Given the description of an element on the screen output the (x, y) to click on. 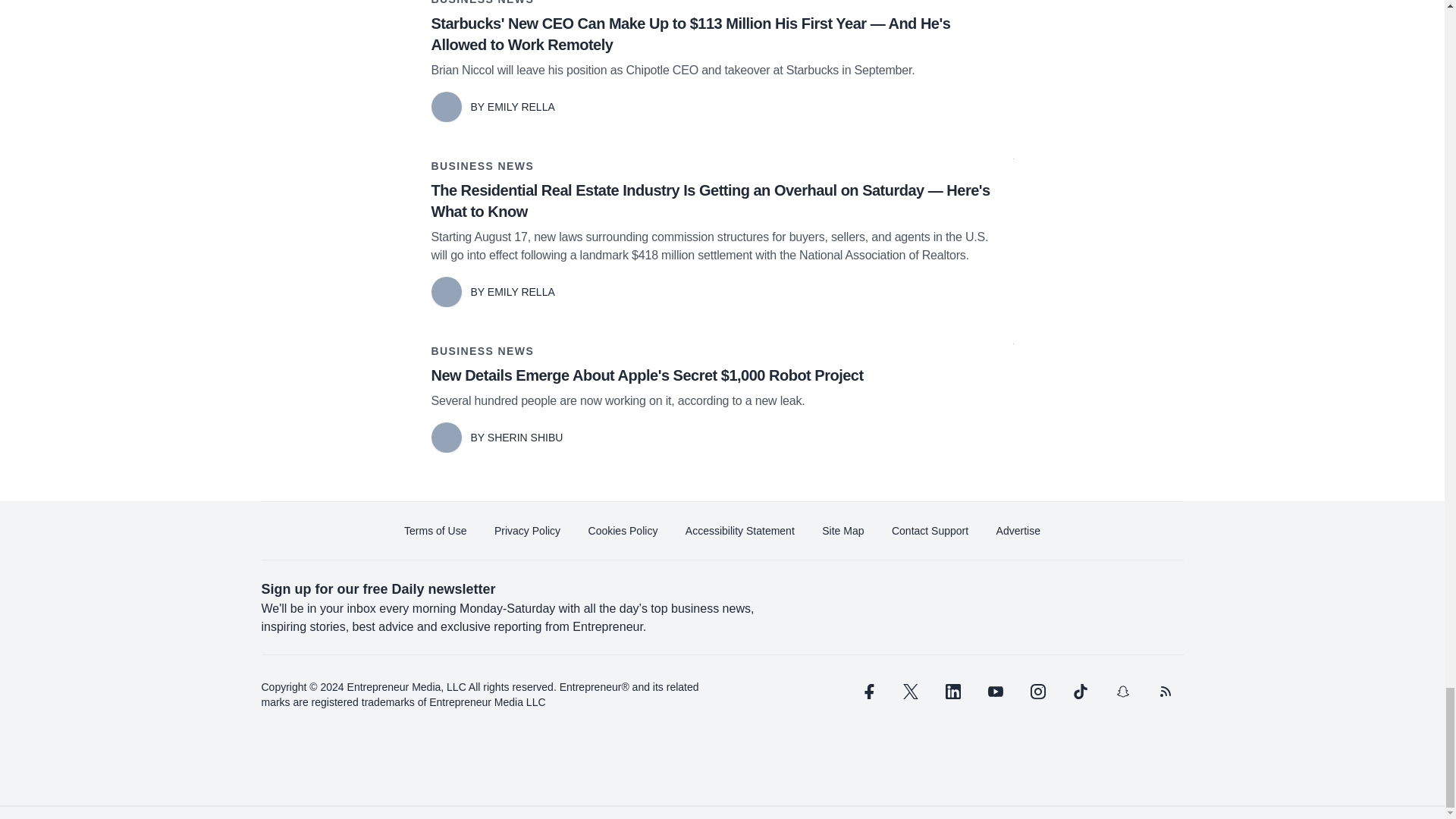
snapchat (1121, 691)
linkedin (952, 691)
youtube (994, 691)
tiktok (1079, 691)
facebook (866, 691)
instagram (1037, 691)
twitter (909, 691)
